Given the description of an element on the screen output the (x, y) to click on. 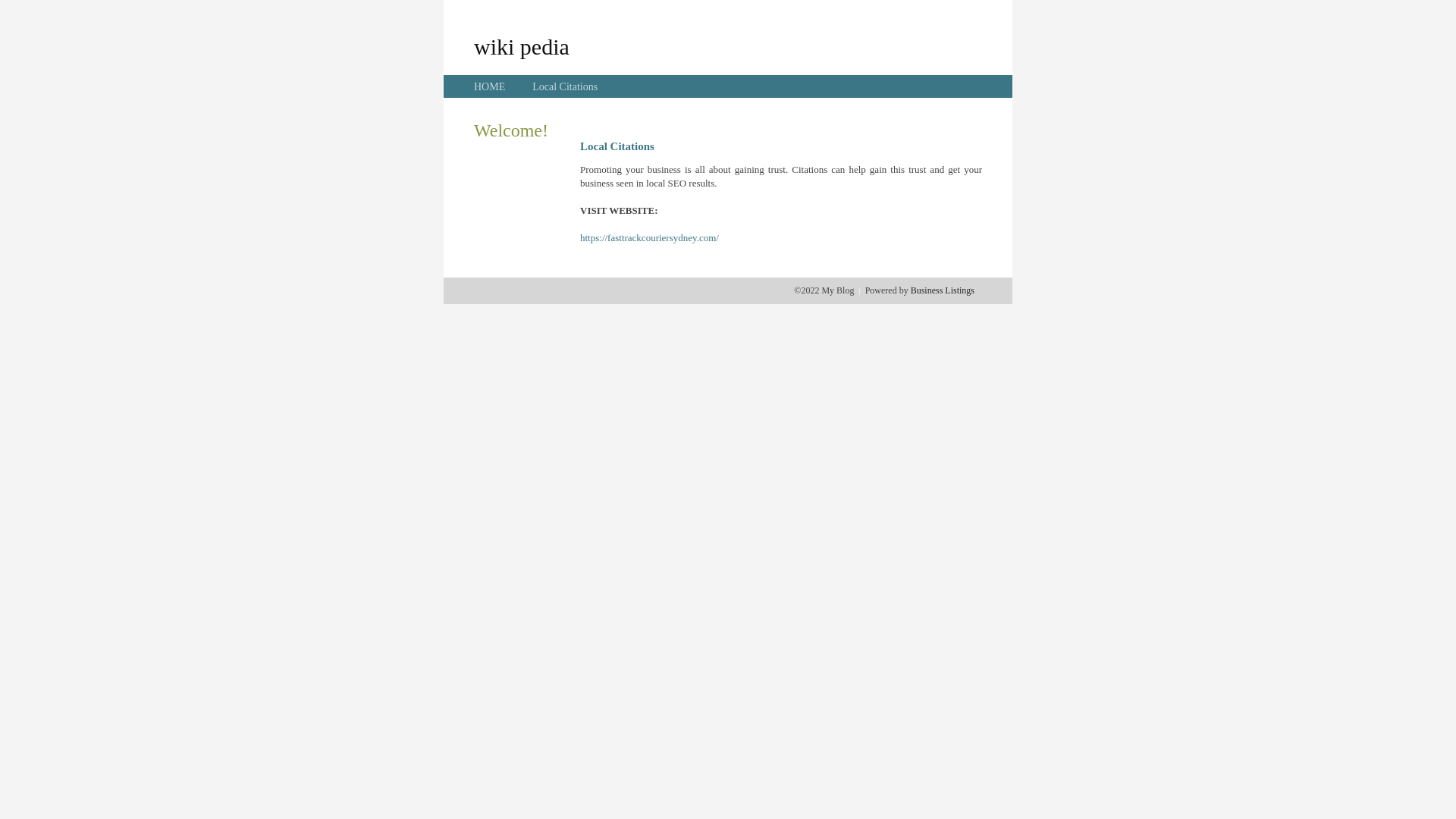
wiki pedia Element type: text (521, 46)
Business Listings Element type: text (942, 290)
HOME Element type: text (489, 86)
Local Citations Element type: text (564, 86)
https://fasttrackcouriersydney.com/ Element type: text (649, 237)
